Given the description of an element on the screen output the (x, y) to click on. 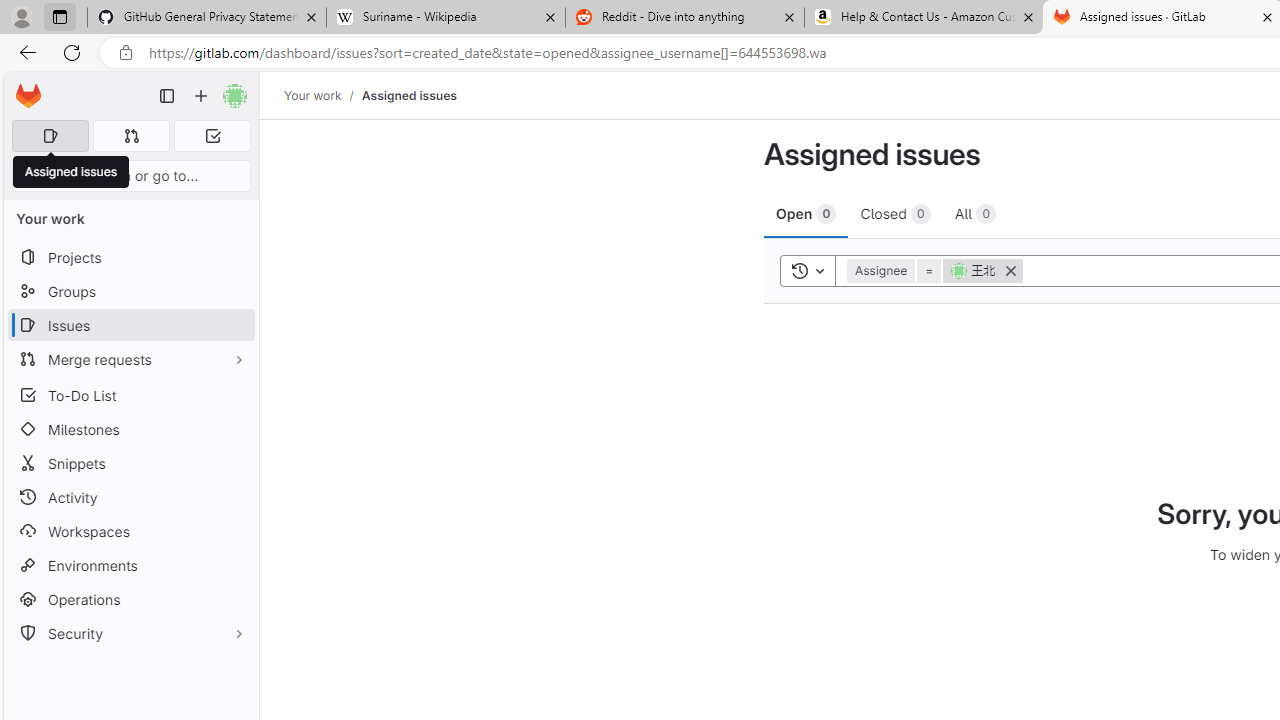
To-Do List (130, 394)
Activity (130, 497)
Environments (130, 564)
Merge requests (130, 358)
Help & Contact Us - Amazon Customer Service (924, 17)
Milestones (130, 429)
Projects (130, 257)
Assigned issues (408, 95)
avatar (959, 270)
Snippets (130, 463)
Merge requests (130, 358)
Homepage (27, 96)
